Given the description of an element on the screen output the (x, y) to click on. 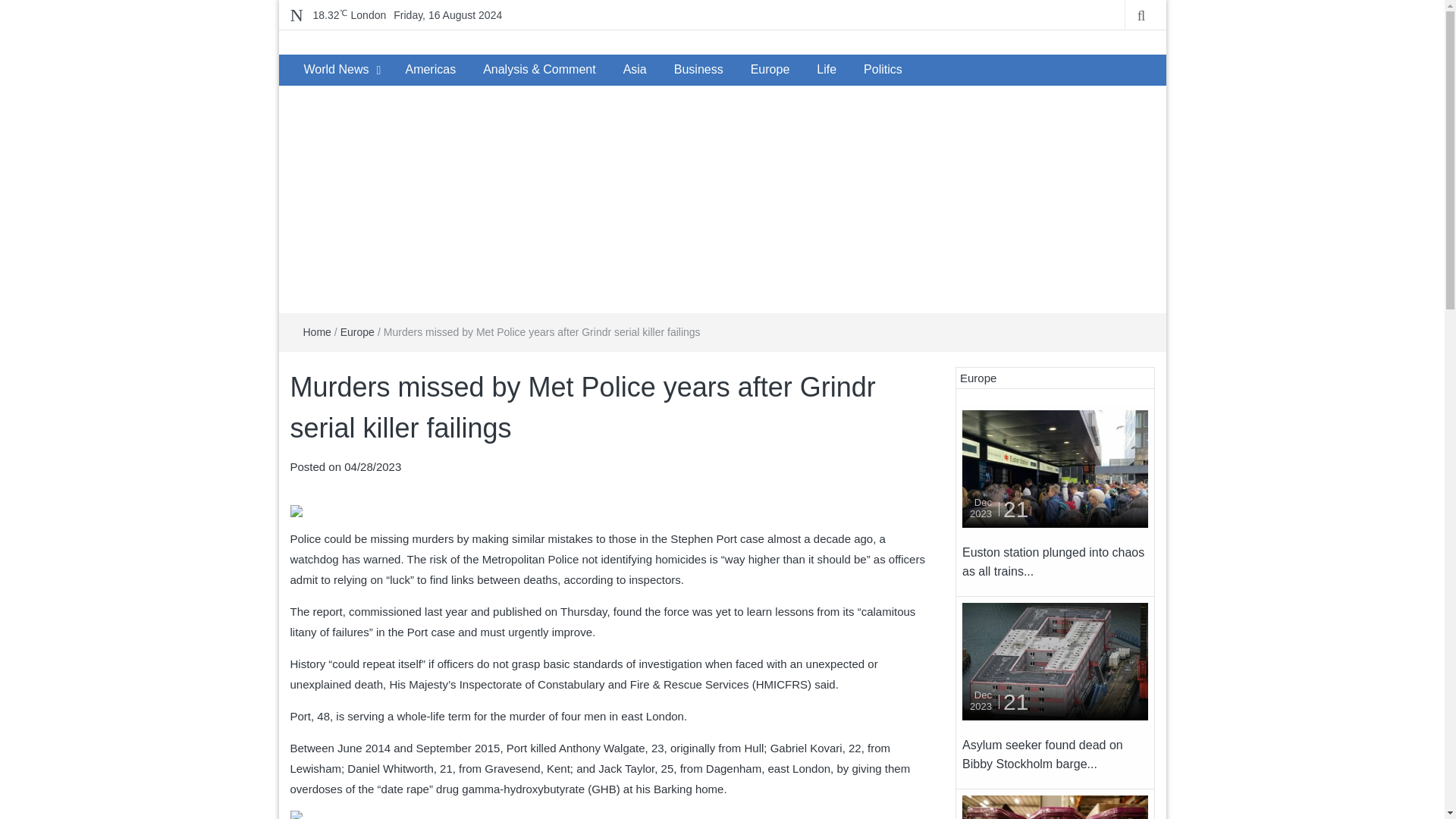
Home (316, 331)
Politics (882, 69)
Euston station plunged into chaos as all trains cancelled (1053, 562)
Euston station plunged into chaos as all trains cancelled (1055, 467)
Euston station plunged into chaos as all trains cancelled (1055, 468)
Business (698, 69)
Europe (357, 331)
Clouds (349, 14)
Americas (429, 69)
Asia (635, 69)
